Given the description of an element on the screen output the (x, y) to click on. 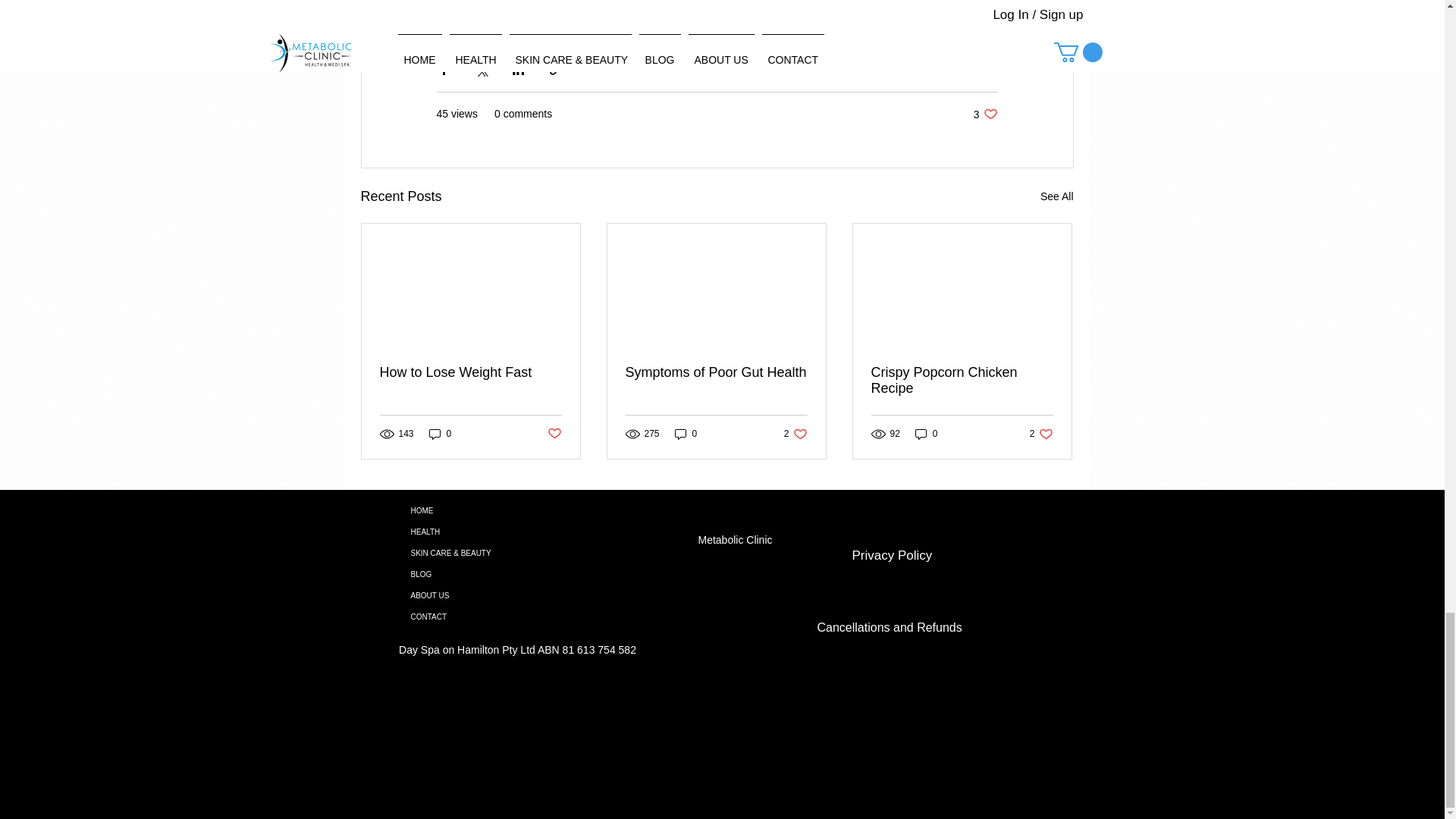
0 (926, 433)
See All (1040, 433)
Post not marked as liked (1057, 196)
0 (554, 433)
Symptoms of Poor Gut Health (440, 433)
Crispy Popcorn Chicken Recipe (796, 433)
How to Lose Weight Fast (715, 372)
